Given the description of an element on the screen output the (x, y) to click on. 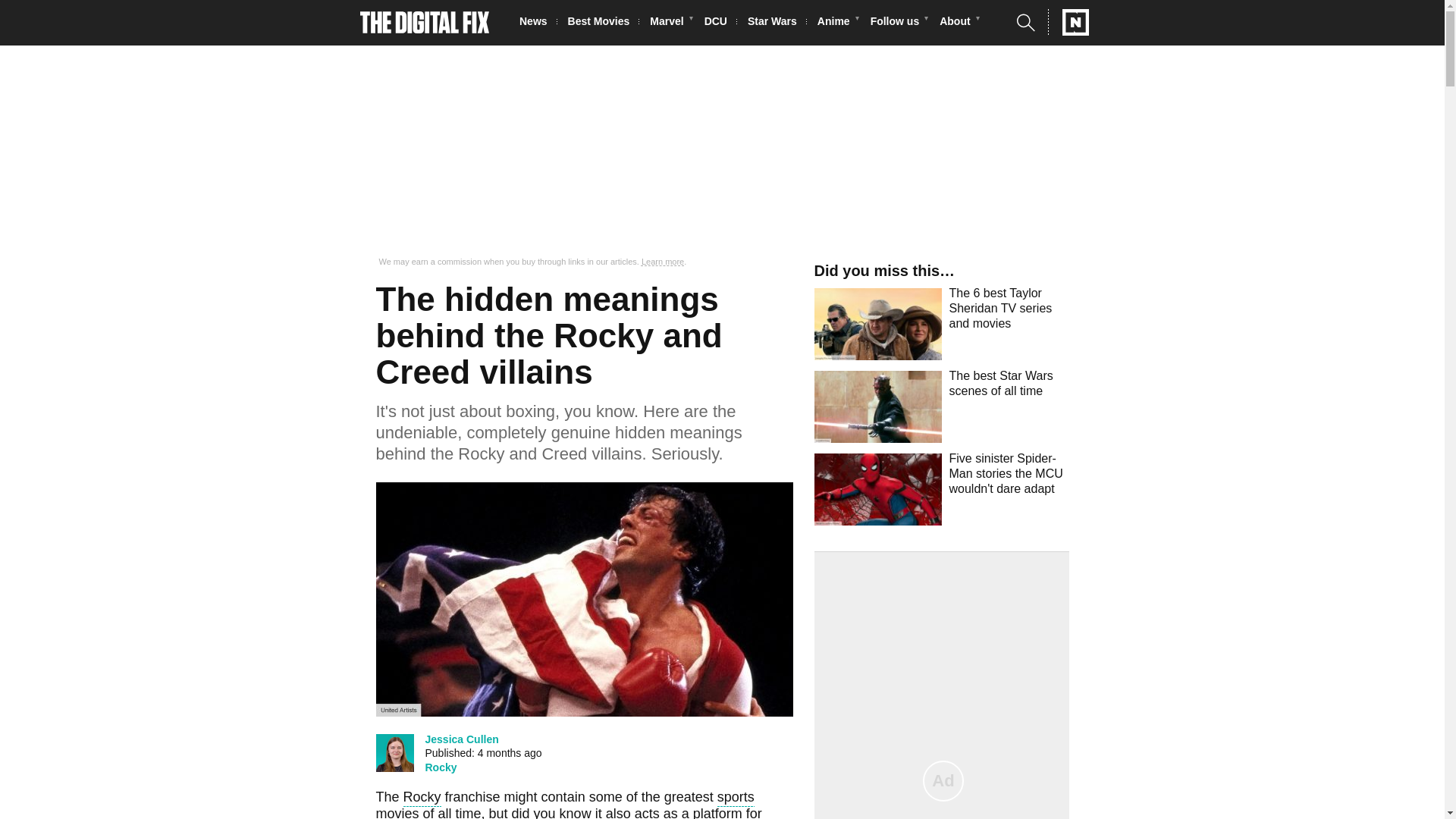
Anime News (837, 22)
Anime (837, 22)
Star Wars (777, 22)
Follow us (899, 22)
Learn more (663, 261)
Star Wars News (777, 22)
The Digital Fix (424, 22)
Best Movies (603, 22)
Marvel (671, 22)
Network N Media (1068, 22)
Marvel Cinematic Universe News (671, 22)
Rocky (422, 798)
Jessica Cullen (461, 739)
sports movies (564, 804)
Rocky (441, 767)
